Given the description of an element on the screen output the (x, y) to click on. 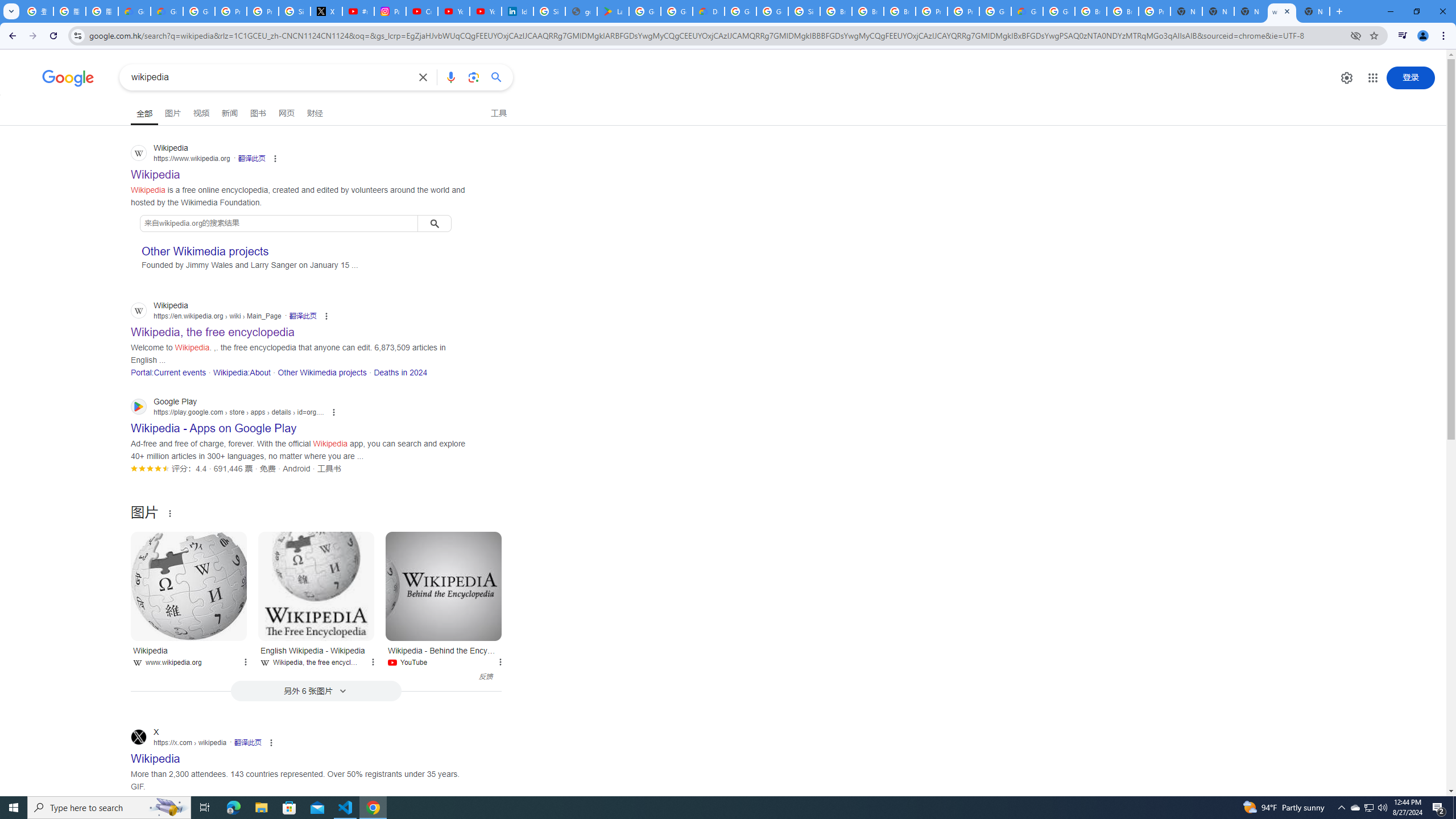
Browse Chrome as a guest - Computer - Google Chrome Help (899, 11)
Wikipedia - Behind the Encyclopedia YouTube (443, 654)
Google Cloud Platform (995, 11)
 Wikipedia Wikipedia https://www.wikipedia.org (155, 171)
Browse Chrome as a guest - Computer - Google Chrome Help (868, 11)
Google (68, 78)
